Given the description of an element on the screen output the (x, y) to click on. 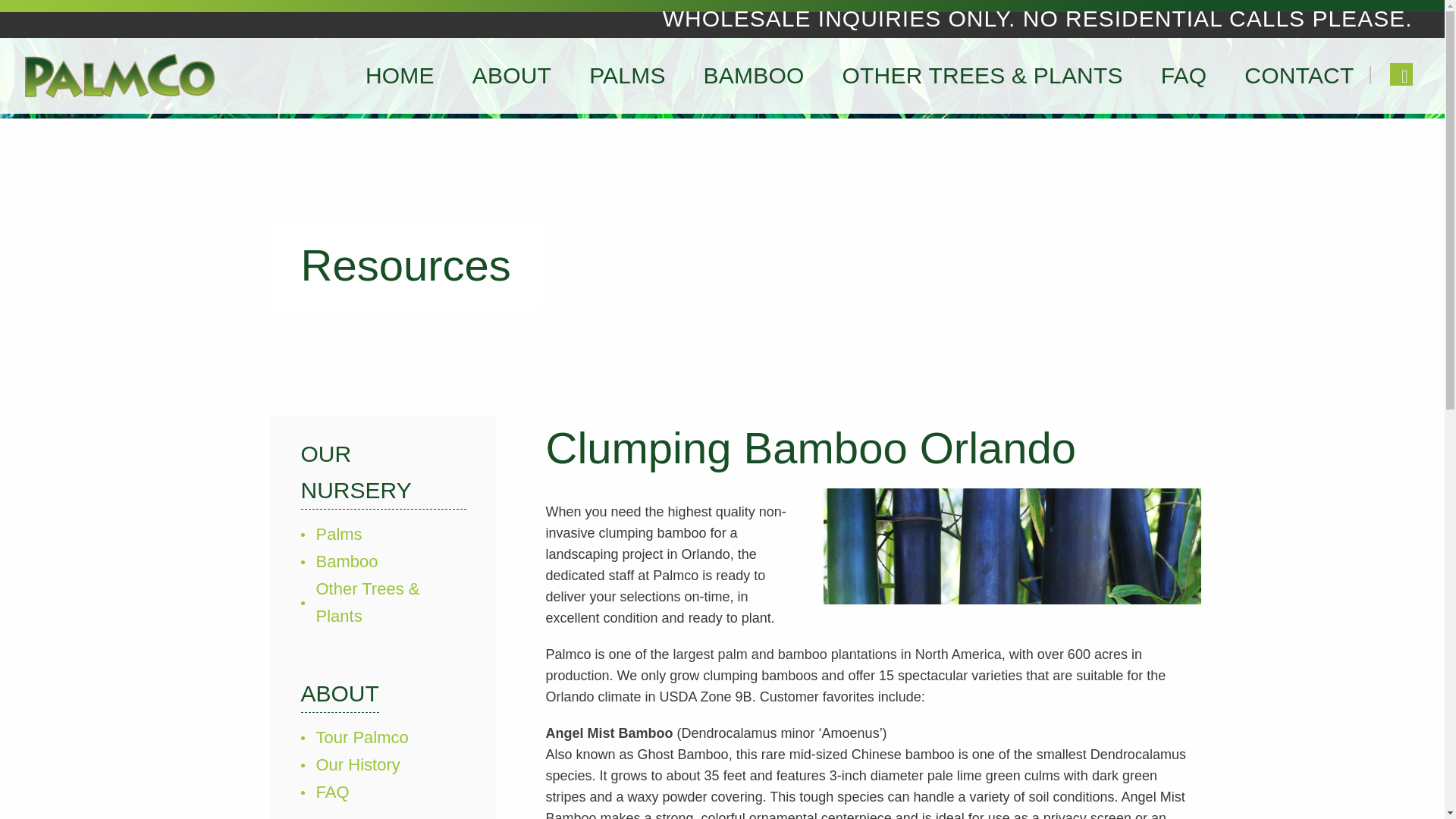
Our History (356, 764)
ABOUT (511, 75)
PALMS (627, 75)
largest palm and bamboo plantations in North America (836, 654)
Angel Mist Bamboo (609, 733)
Palms (338, 533)
Facebook (1400, 74)
Tour Palmco (361, 737)
HOME (399, 75)
FAQ (332, 791)
